Given the description of an element on the screen output the (x, y) to click on. 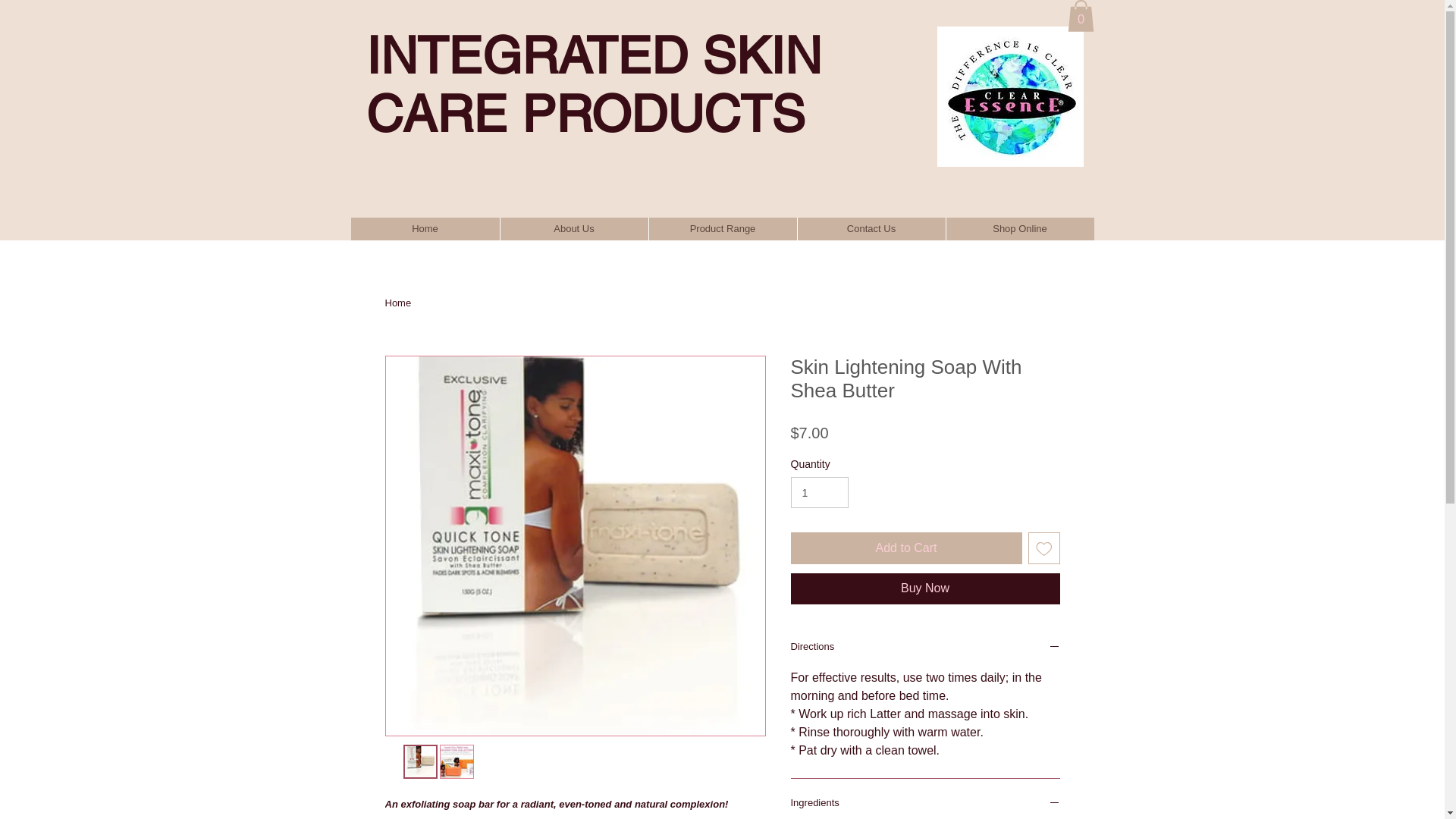
Ingredients Element type: text (924, 804)
0 Element type: text (1080, 15)
Home Element type: text (398, 302)
Add to Cart Element type: text (905, 548)
Buy Now Element type: text (924, 588)
About Us Element type: text (572, 228)
clear essence australia Element type: hover (1010, 96)
Product Range Element type: text (721, 228)
Shop Online Element type: text (1018, 228)
Home Element type: text (424, 228)
Directions Element type: text (924, 647)
Contact Us Element type: text (870, 228)
